Given the description of an element on the screen output the (x, y) to click on. 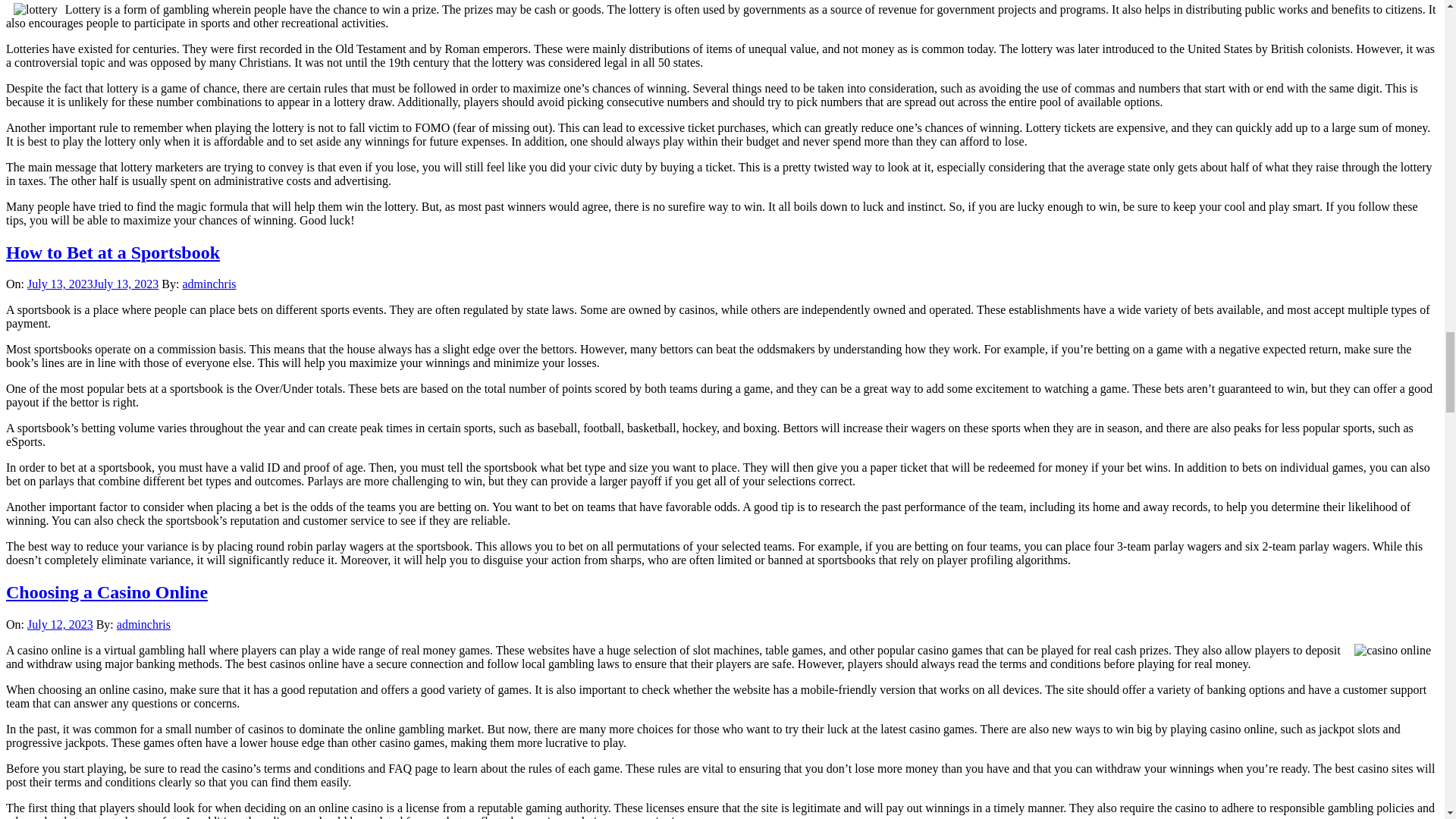
July 13, 2023July 13, 2023 (92, 283)
adminchris (143, 624)
How to Bet at a Sportsbook (112, 252)
adminchris (208, 283)
Choosing a Casino Online (106, 591)
July 12, 2023 (60, 624)
